Given the description of an element on the screen output the (x, y) to click on. 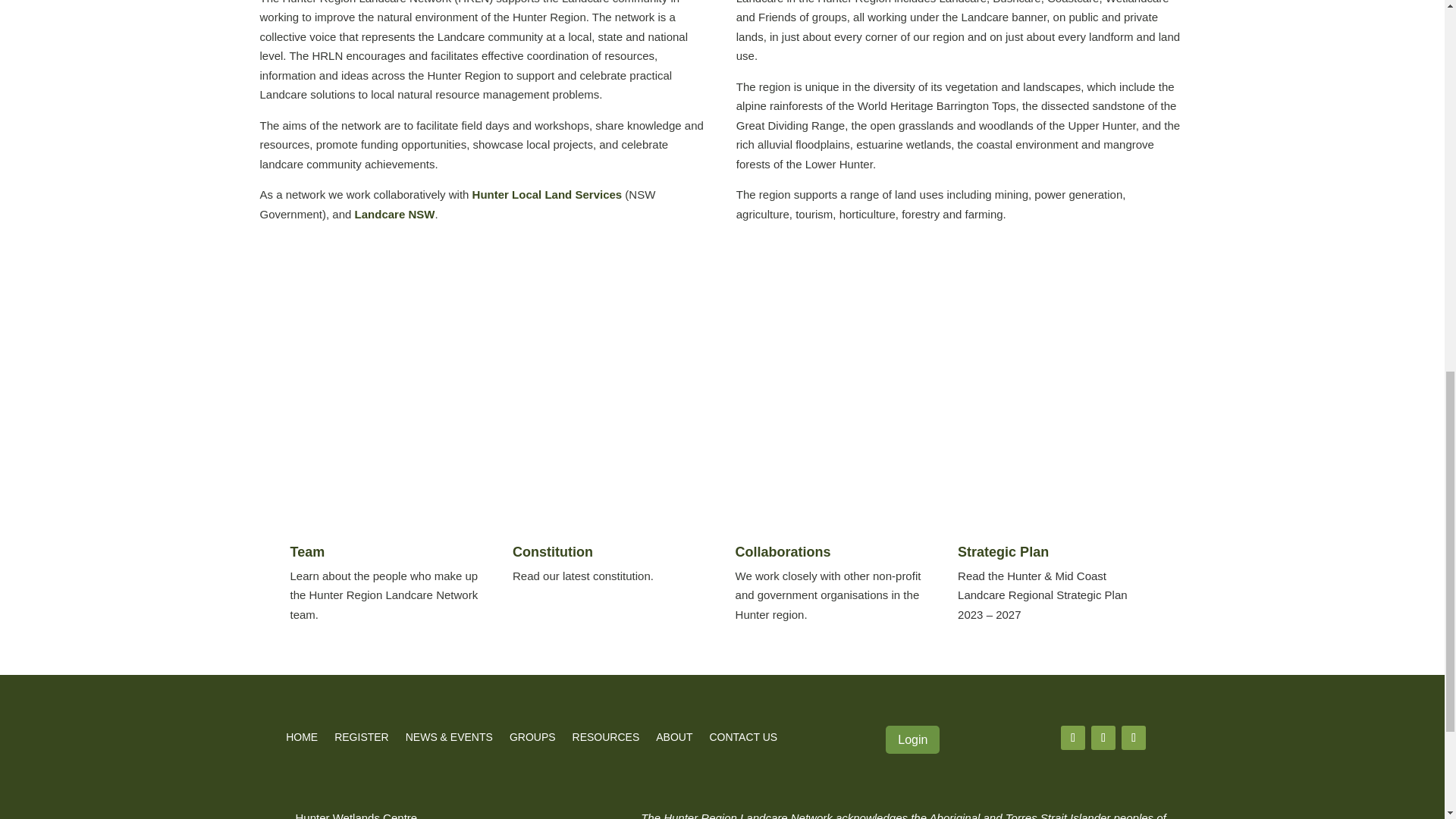
HOME (301, 740)
REGISTER (361, 740)
Hunter Local Land Services (547, 194)
ABOUT (674, 740)
Follow on LinkedIn (1133, 737)
Follow on Facebook (1072, 737)
CONTACT US (743, 740)
Strategic Plan (1003, 551)
RESOURCES (606, 740)
Landcare NSW (395, 214)
